Given the description of an element on the screen output the (x, y) to click on. 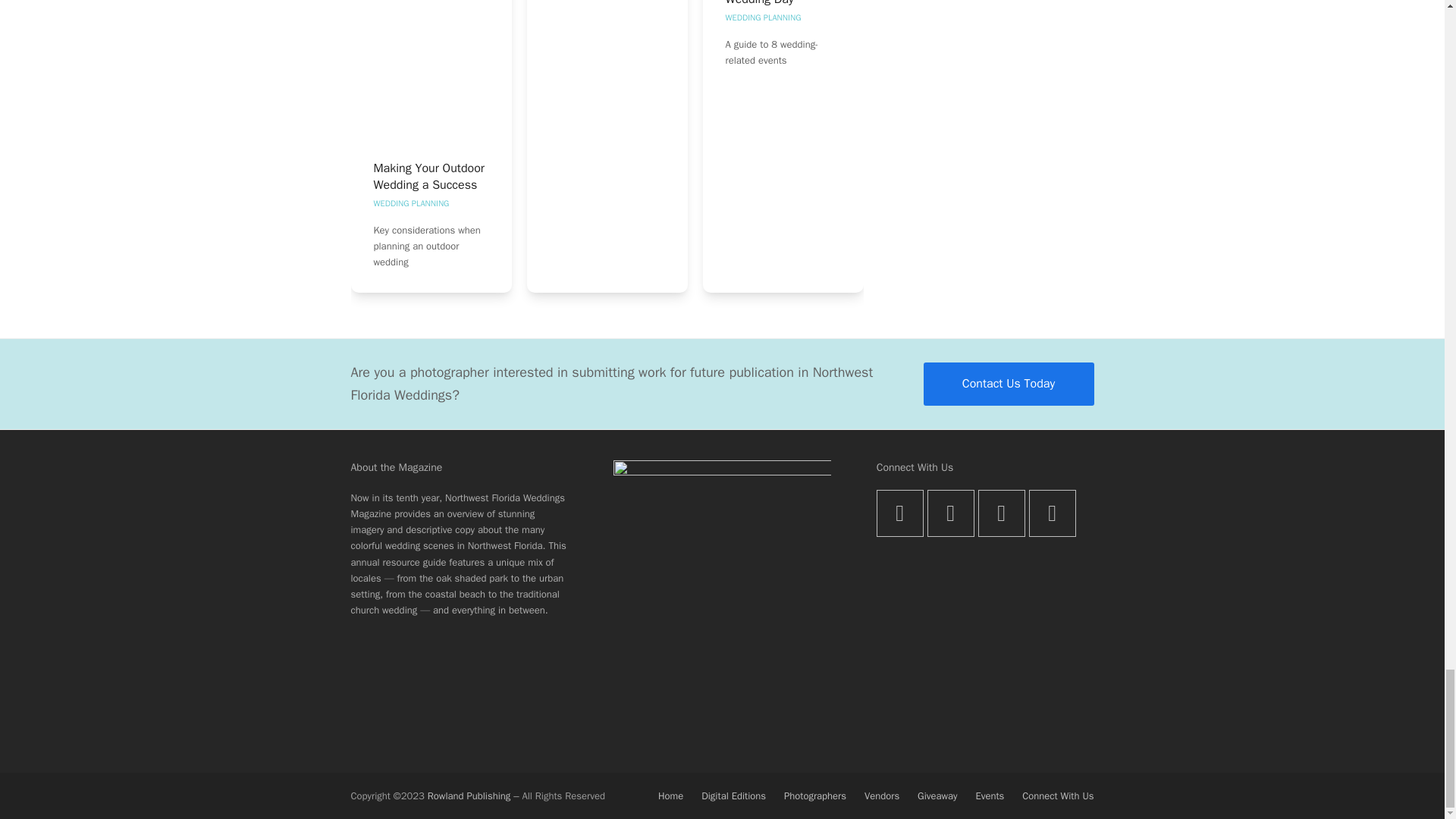
Facebook (950, 513)
Twitter (899, 513)
Instagram (1001, 513)
Making Your Outdoor Wedding a Success (427, 176)
WEDDING PLANNING (410, 203)
Pinterest (1052, 513)
